Given the description of an element on the screen output the (x, y) to click on. 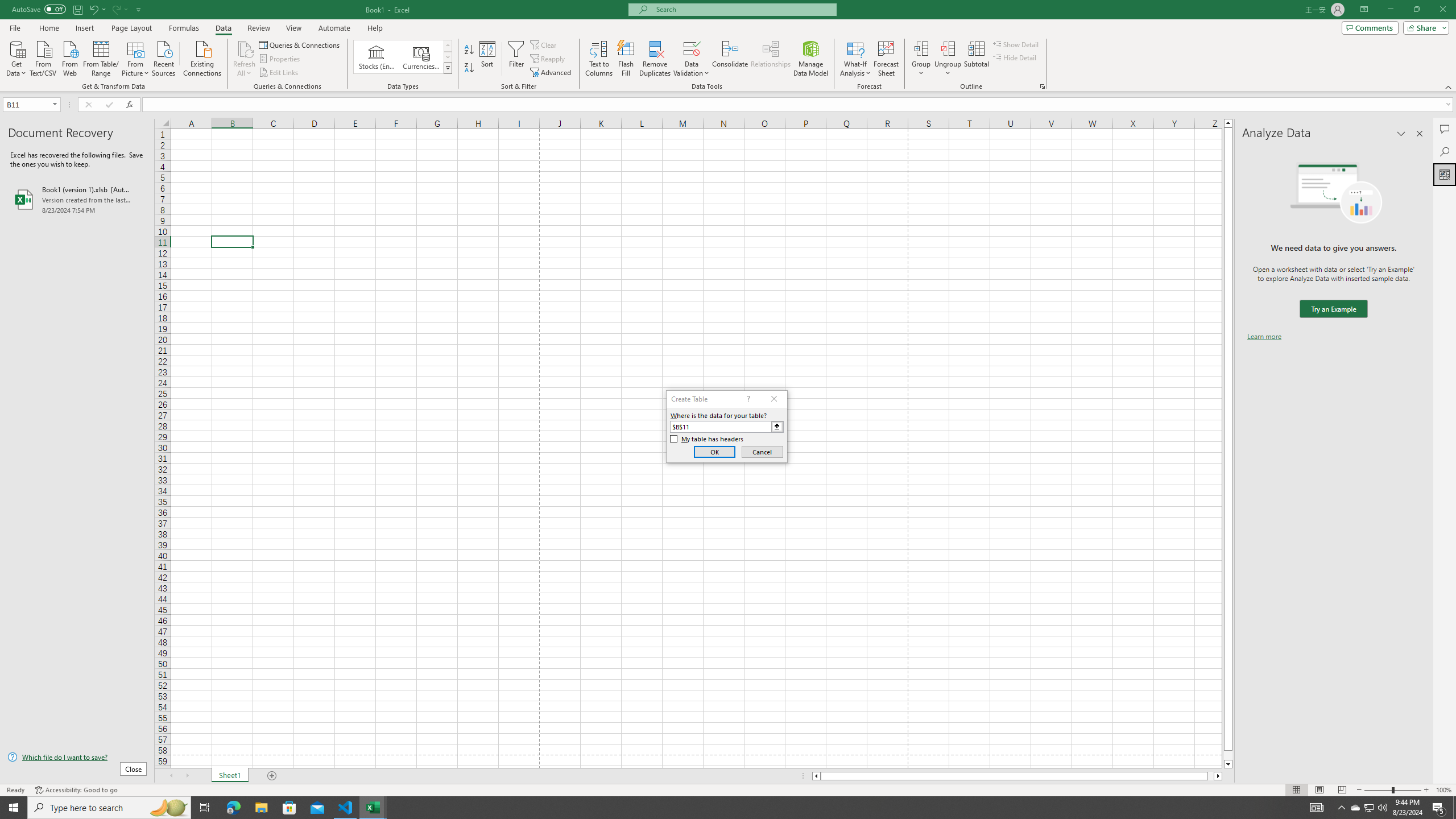
We need data to give you answers. Try an Example (1333, 308)
